Given the description of an element on the screen output the (x, y) to click on. 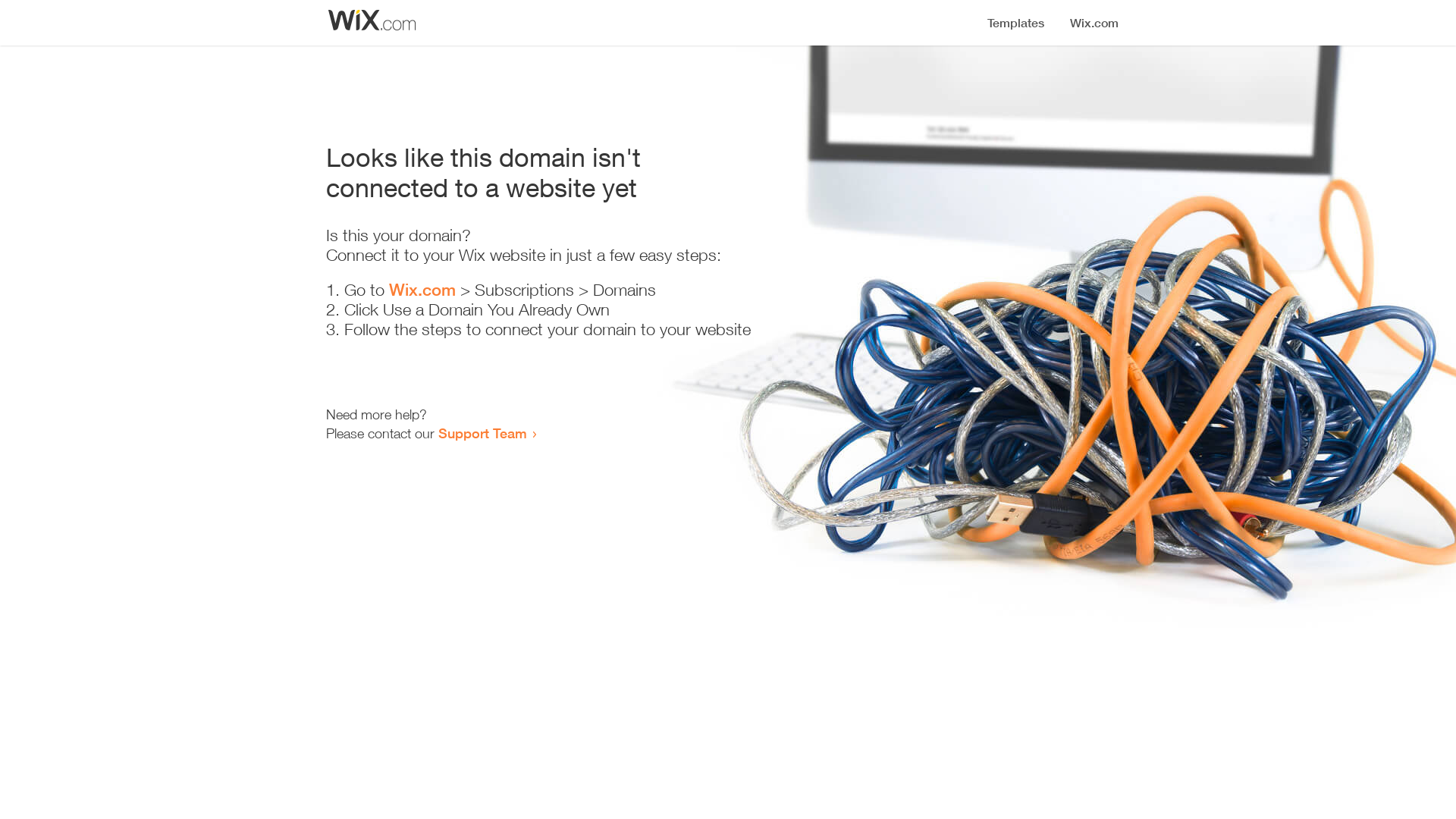
Support Team Element type: text (482, 432)
Wix.com Element type: text (422, 289)
